Given the description of an element on the screen output the (x, y) to click on. 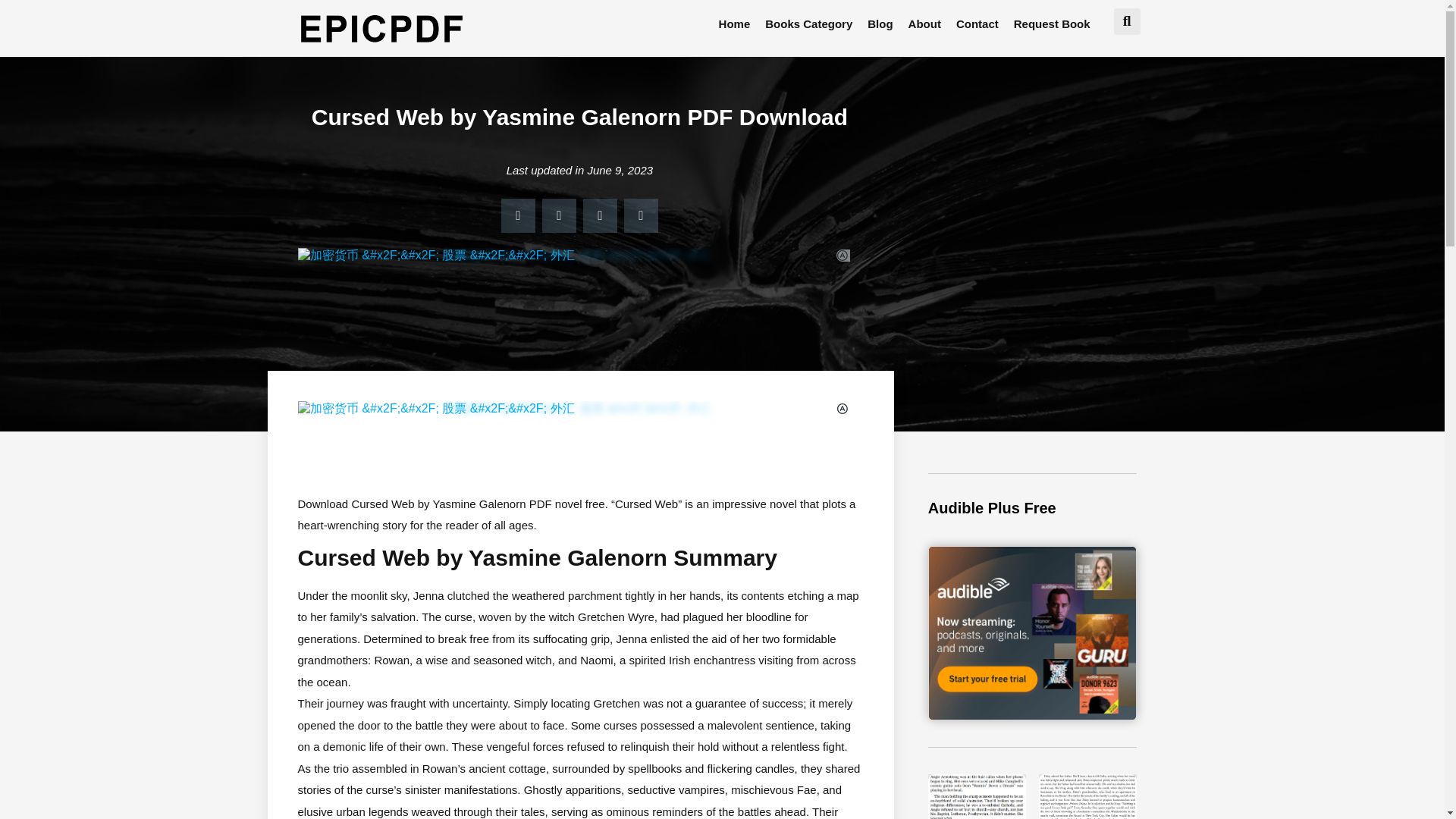
About (925, 23)
Books Category (808, 23)
Home (734, 23)
Blog (879, 23)
Contact (977, 23)
Request Book (1051, 23)
